Given the description of an element on the screen output the (x, y) to click on. 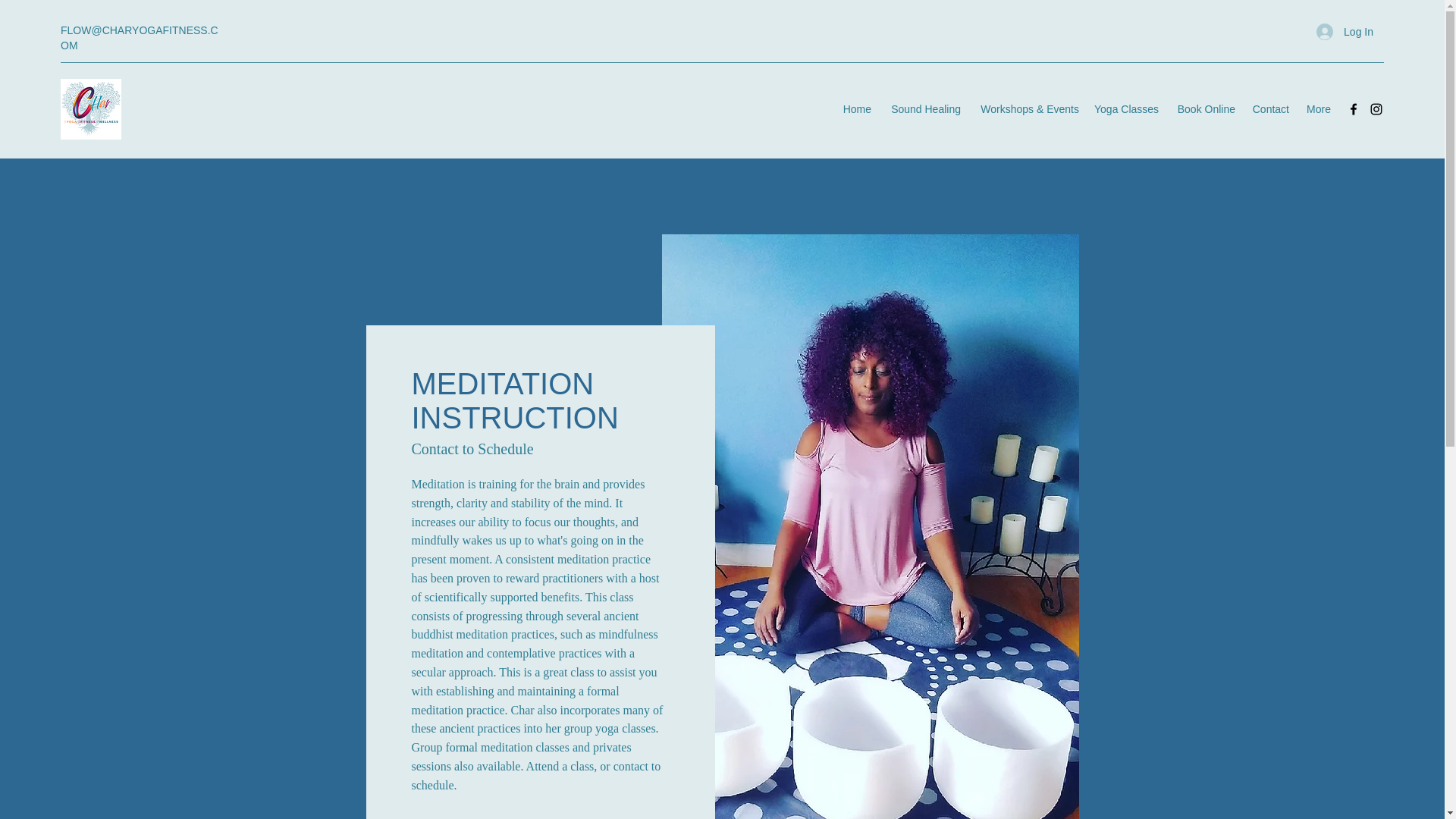
Contact (1270, 108)
Home (856, 108)
Sound Healing (923, 108)
Yoga Classes (1126, 108)
Log In (1345, 31)
Book Online (1204, 108)
